Given the description of an element on the screen output the (x, y) to click on. 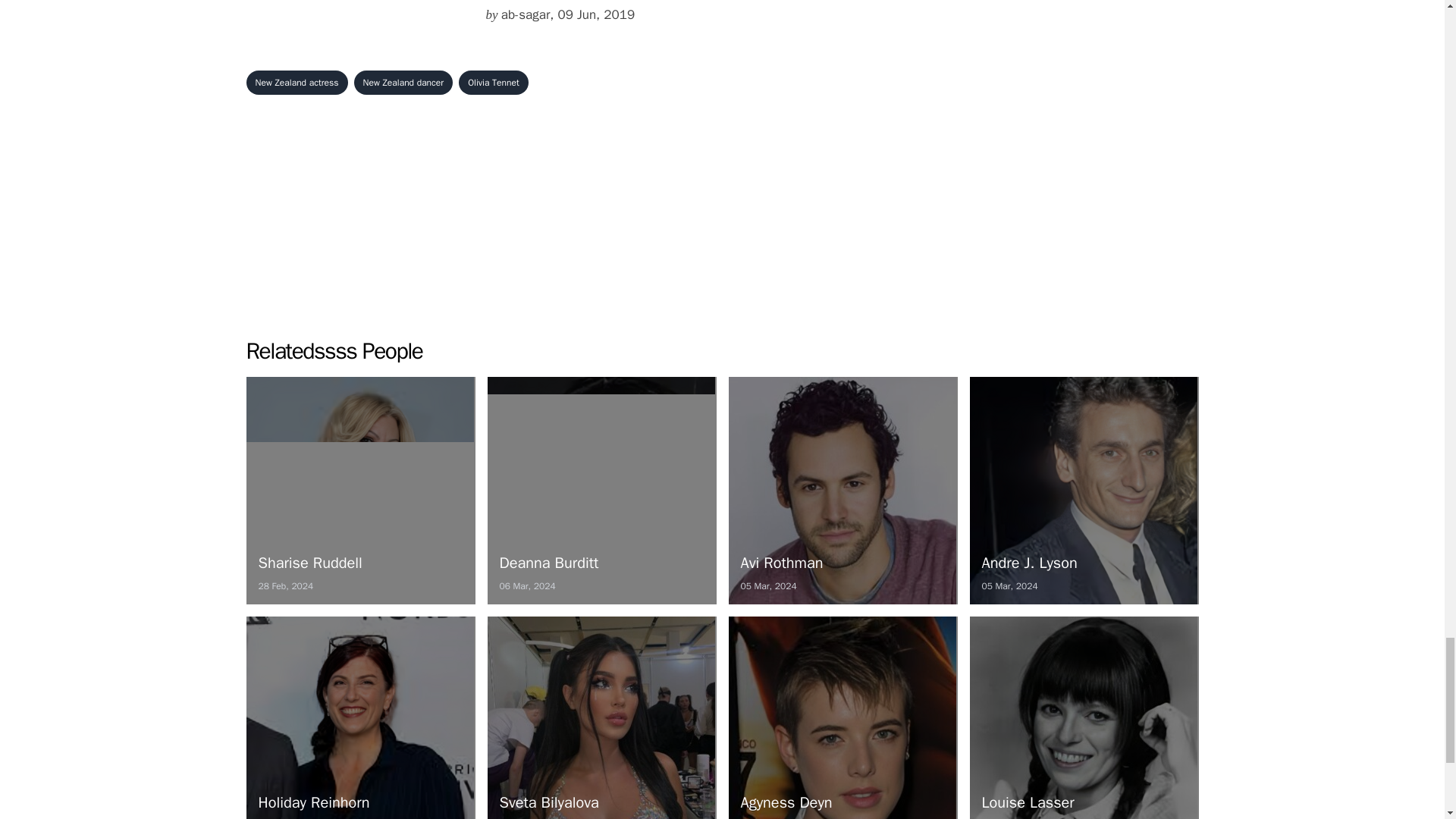
New Zealand actress (601, 490)
New Zealand dancer (296, 82)
Olivia Tennet (1083, 490)
